Given the description of an element on the screen output the (x, y) to click on. 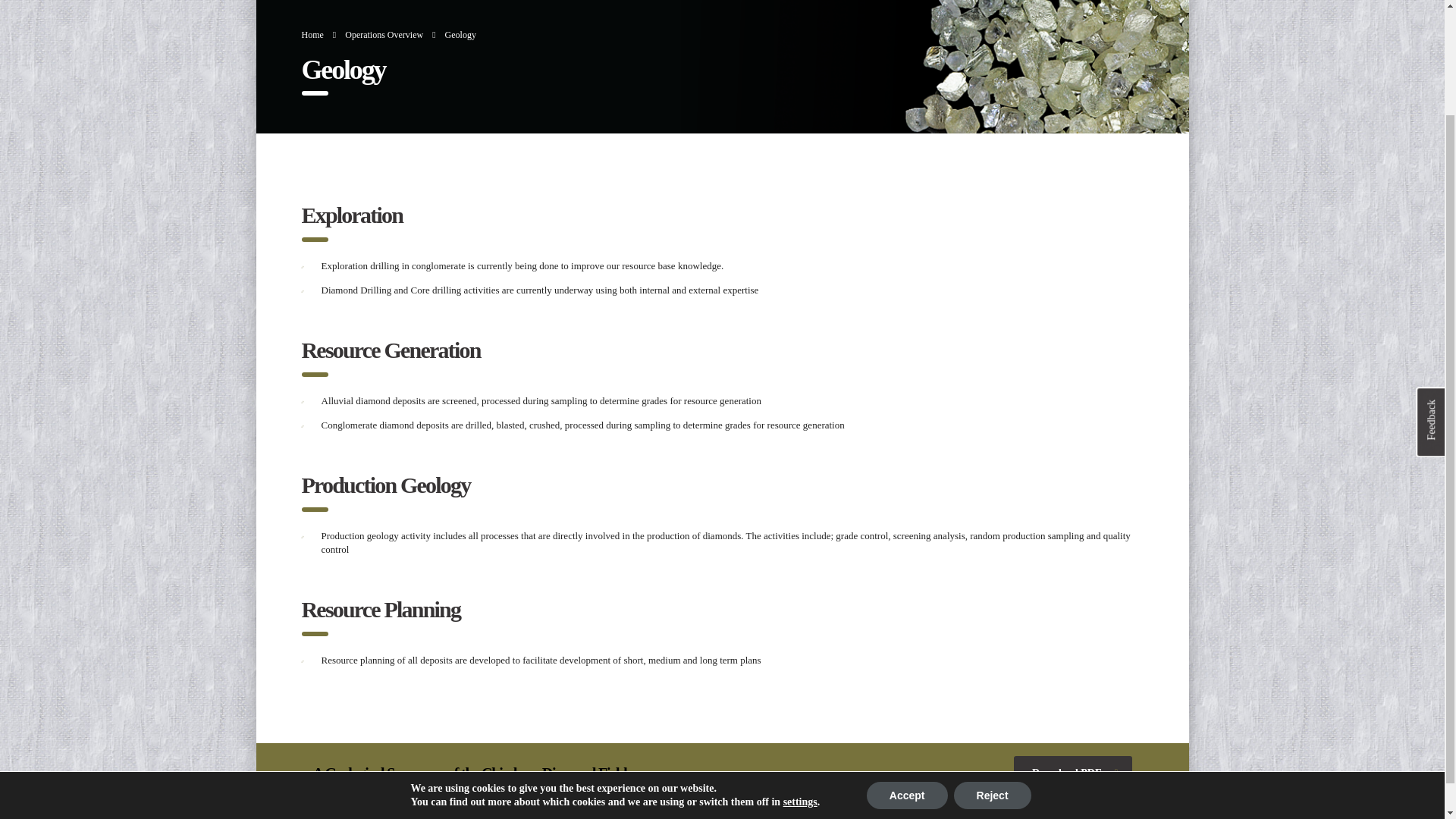
Go to Zimbabwe Consolidated Diamond Company. (312, 34)
Go to Operations Overview. (384, 34)
